Given the description of an element on the screen output the (x, y) to click on. 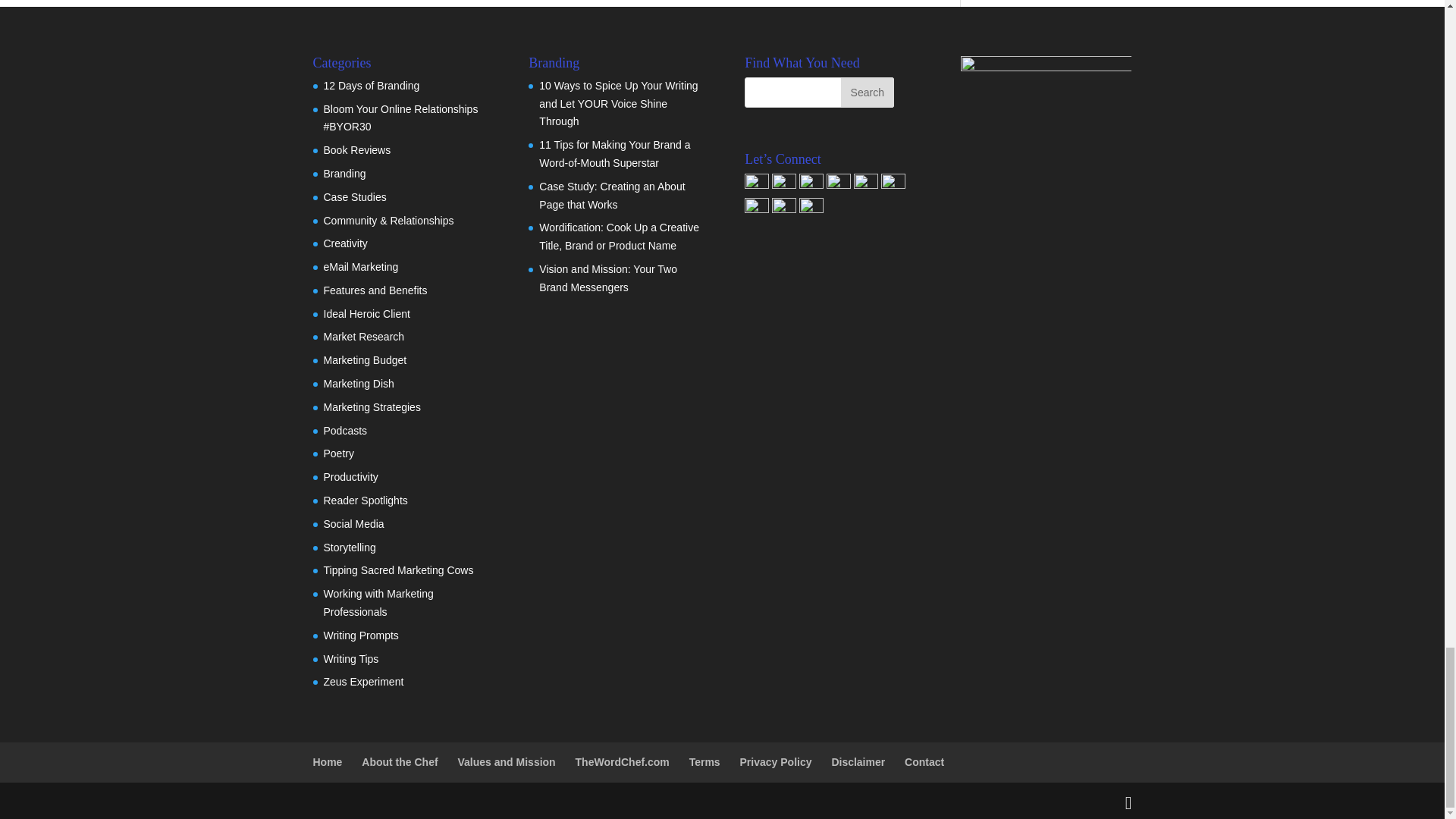
Branding (344, 173)
12 Days of Branding (371, 85)
Search (867, 91)
Book Reviews (356, 150)
